Given the description of an element on the screen output the (x, y) to click on. 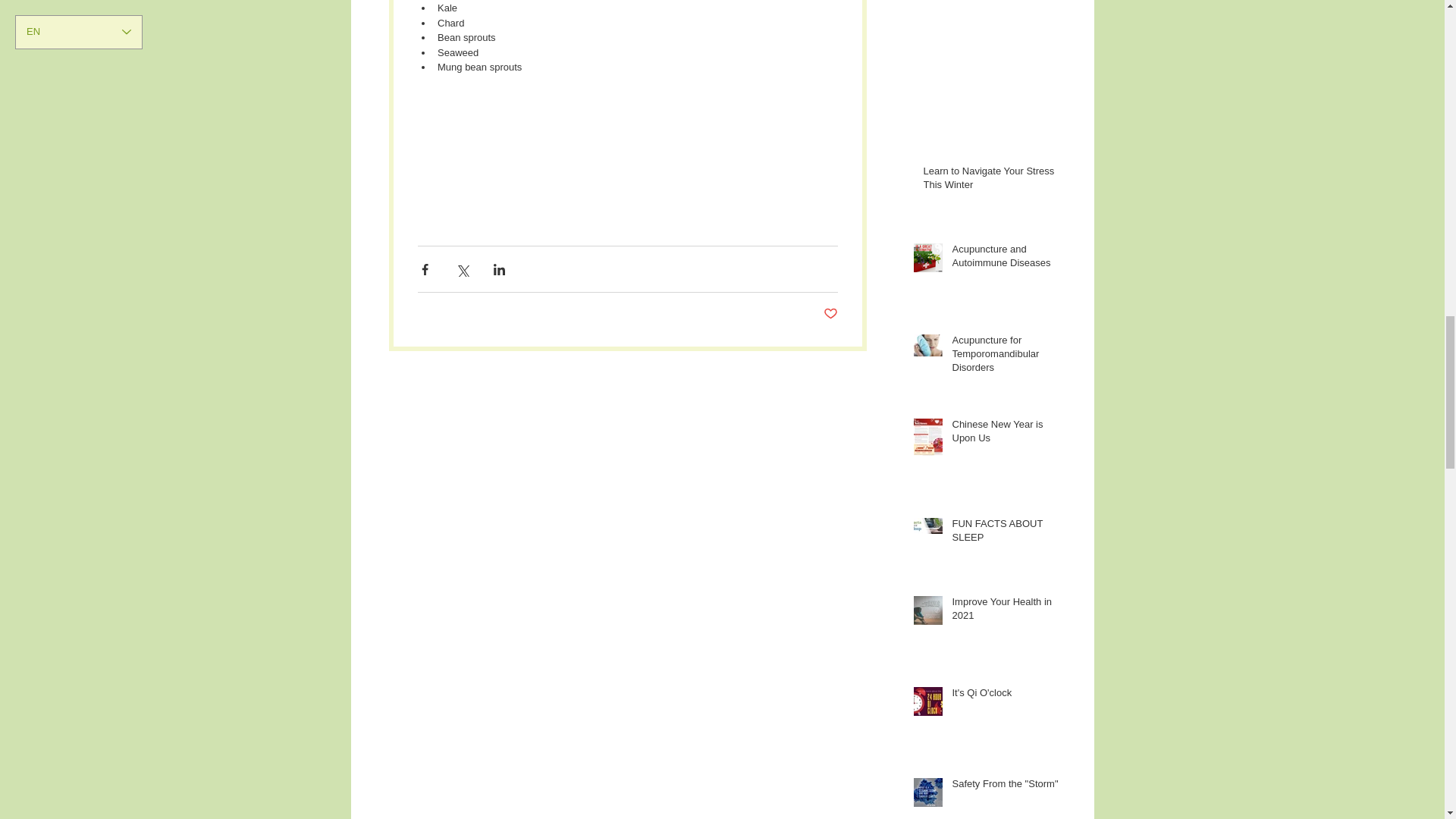
Acupuncture and Autoimmune Diseases (1006, 259)
Safety From the "Storm" (1006, 786)
FUN FACTS ABOUT SLEEP (1006, 533)
It's Qi O'clock (1006, 695)
Learn to Navigate Your Stress This Winter (992, 181)
Post not marked as liked (831, 314)
Improve Your Health in 2021 (1006, 611)
Acupuncture for Temporomandibular Disorders (1006, 357)
Chinese New Year is Upon Us (1006, 434)
